Given the description of an element on the screen output the (x, y) to click on. 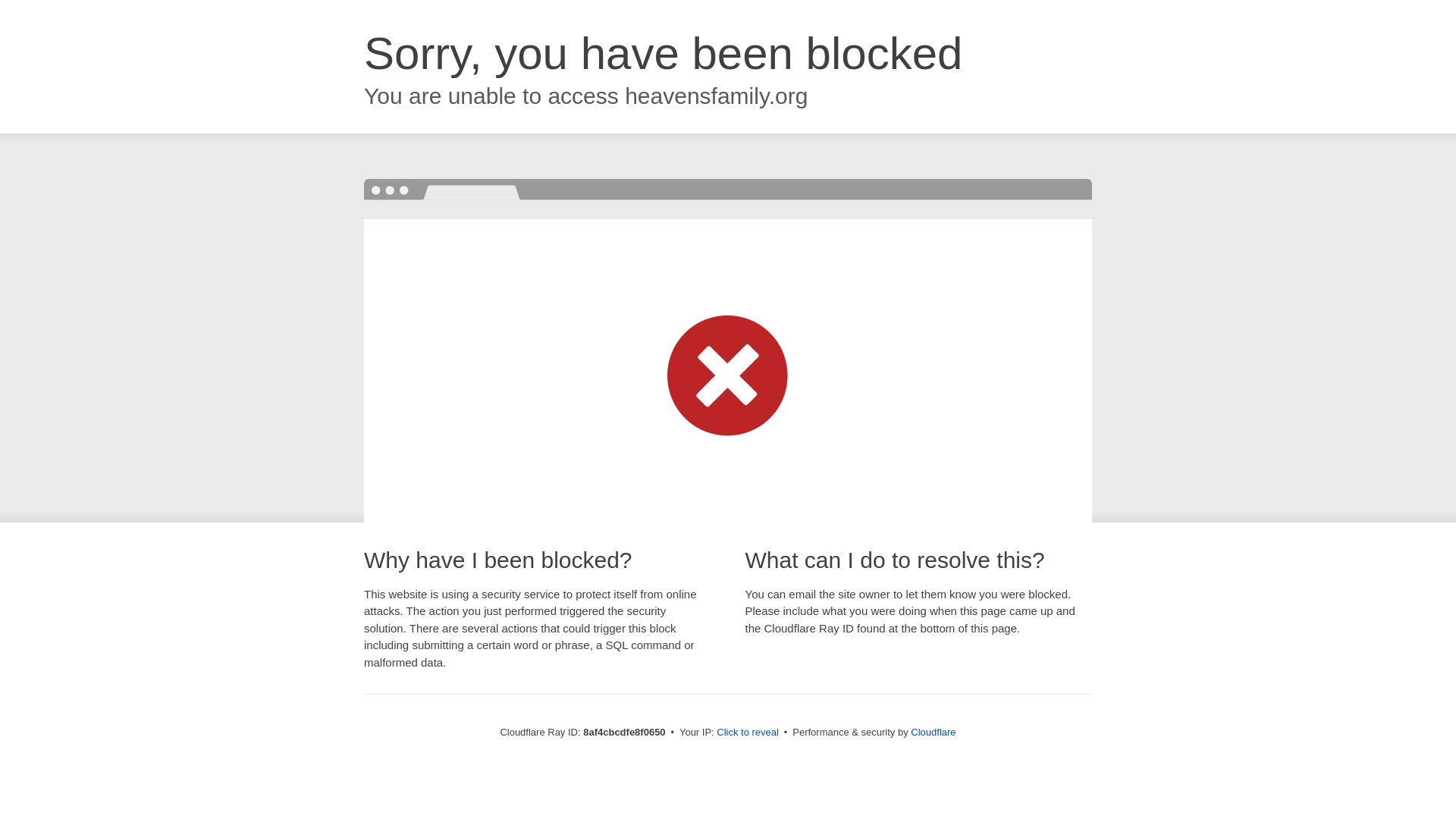
Click to reveal (747, 732)
Cloudflare (933, 731)
